Given the description of an element on the screen output the (x, y) to click on. 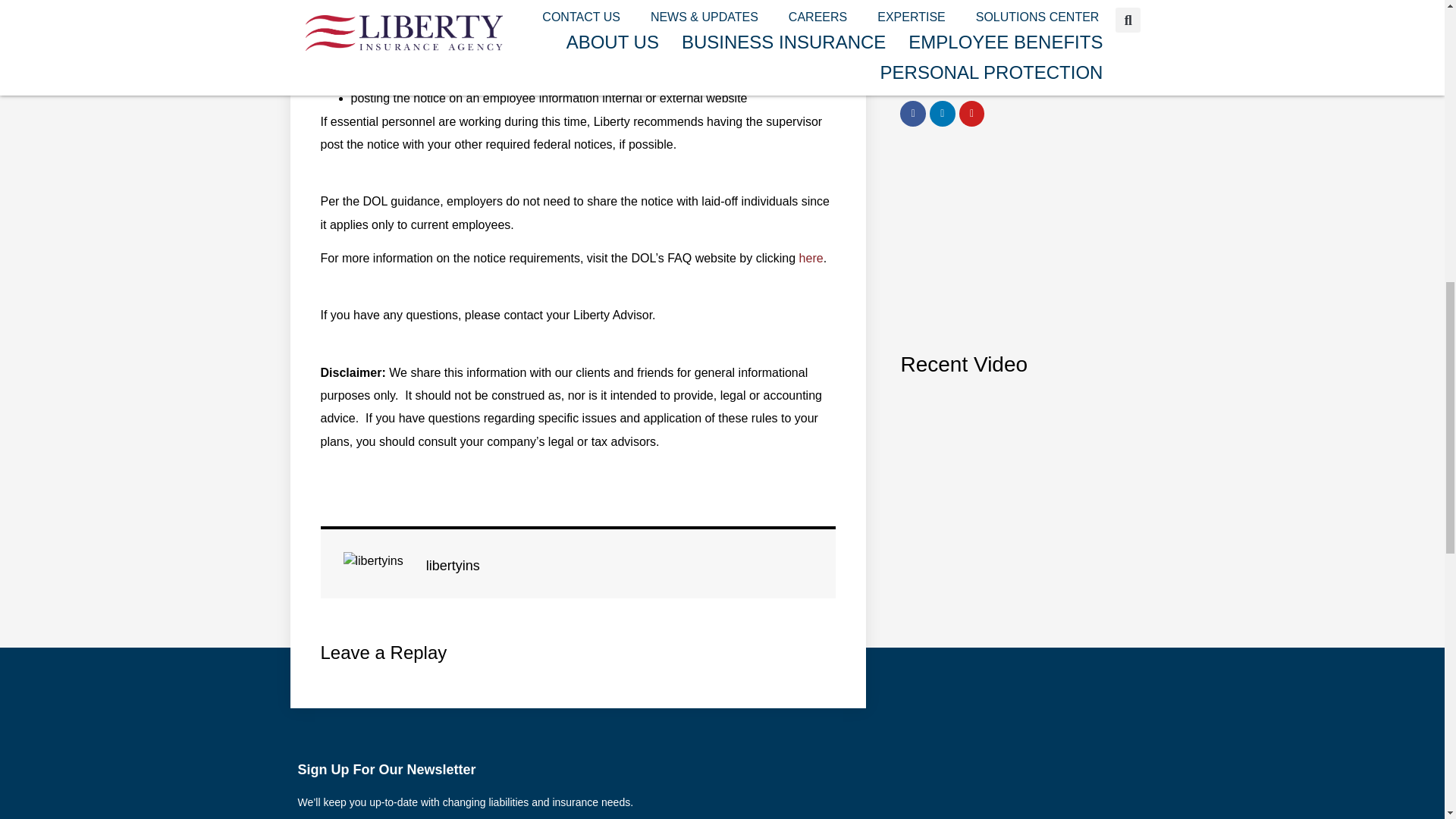
Agency Videos (1009, 447)
